Given the description of an element on the screen output the (x, y) to click on. 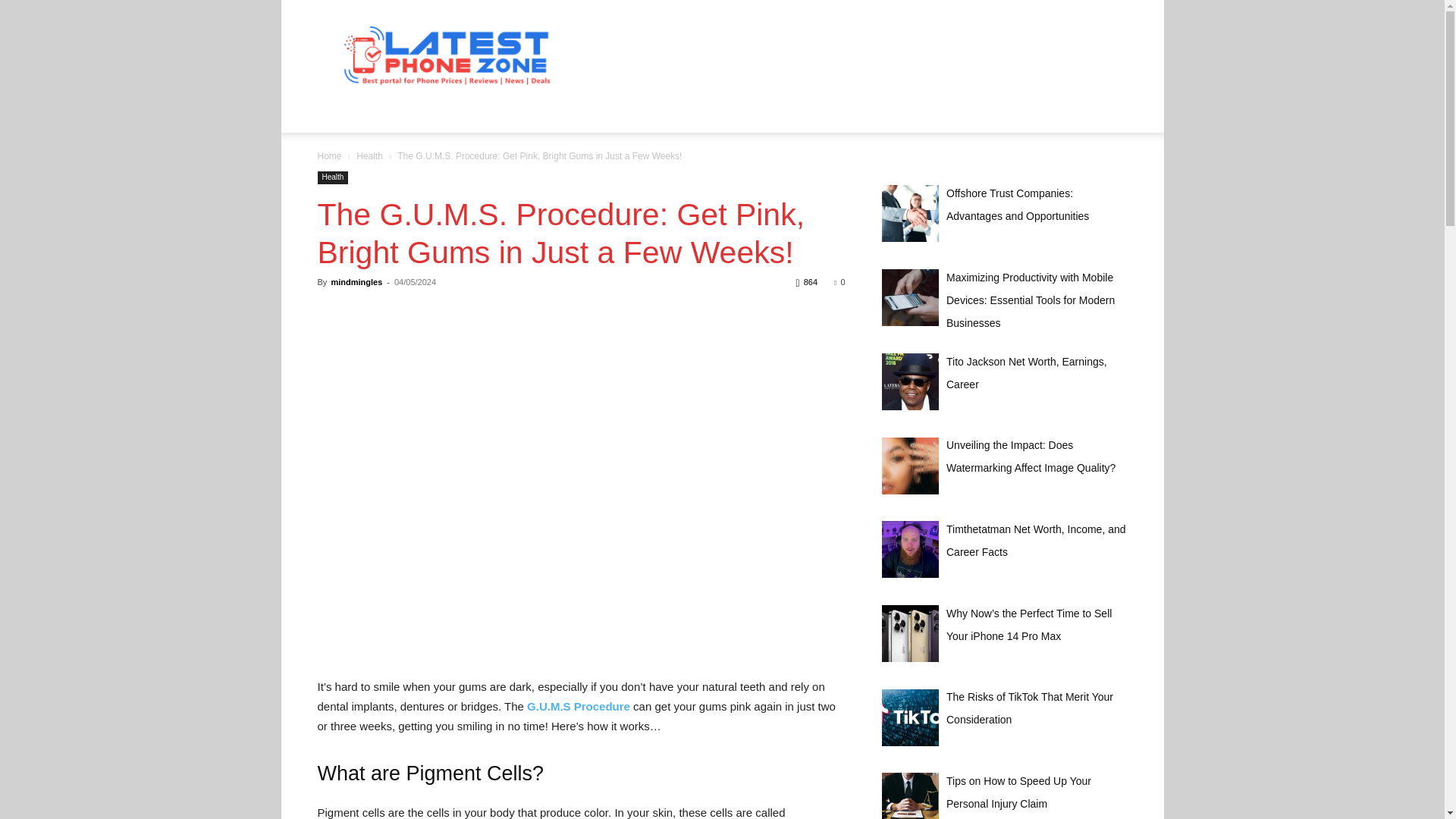
G.U.M.S Procedure (577, 706)
REVIEWS (699, 114)
mindmingles (355, 281)
MOBILE (579, 114)
BUSINESS (427, 114)
EDUCATION (506, 114)
NEWS (637, 114)
0 (839, 281)
Health (369, 155)
Home (328, 155)
View all posts in Health (369, 155)
Search (1085, 174)
Health (332, 177)
CONTACT (352, 114)
